Given the description of an element on the screen output the (x, y) to click on. 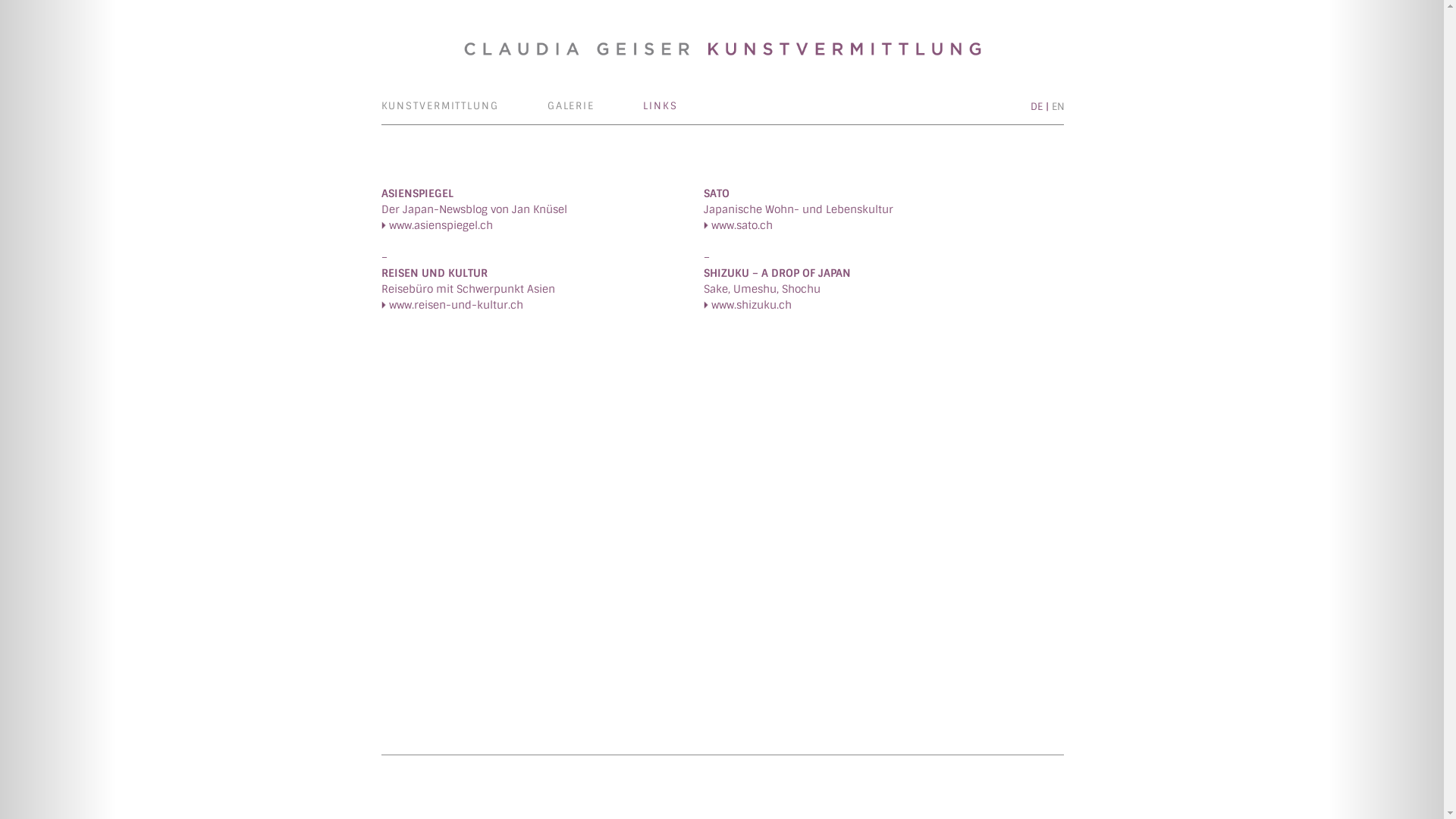
www.asienspiegel.ch Element type: text (436, 228)
DE Element type: text (1035, 106)
KUNSTVERMITTLUNG Element type: text (439, 106)
LINKS Element type: text (660, 106)
www.sato.ch Element type: text (737, 228)
EN Element type: text (1057, 106)
www.reisen-und-kultur.ch Element type: text (451, 308)
www.shizuku.ch Element type: text (747, 308)
GALERIE Element type: text (570, 106)
